Given the description of an element on the screen output the (x, y) to click on. 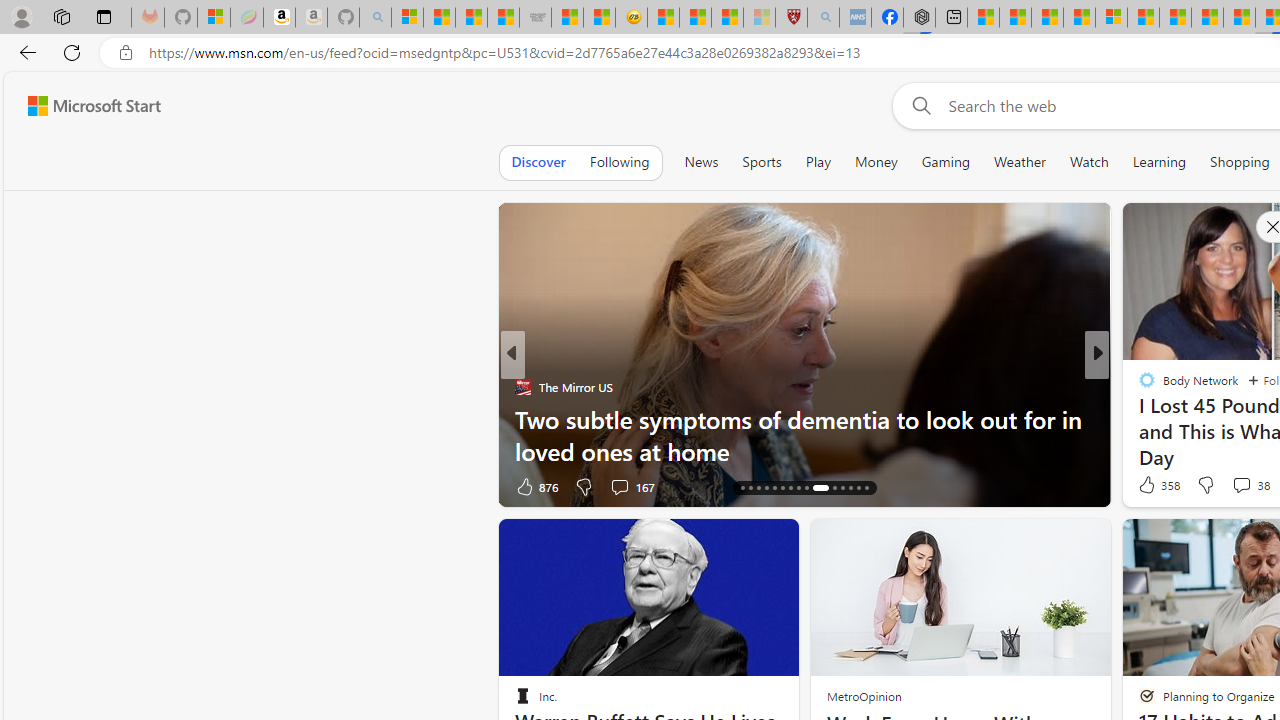
Robert H. Shmerling, MD - Harvard Health (791, 17)
Play (818, 162)
MetroOpinion (863, 696)
View comments 167 Comment (11, 485)
Discover (538, 161)
Recipes - MSN (663, 17)
400 Like (535, 486)
View comments 5 Comment (1229, 485)
Nordace - Nordace Siena Is Not An Ordinary Backpack (919, 17)
AutomationID: tab-22 (789, 487)
Skip to footer (82, 105)
AutomationID: tab-28 (850, 487)
